Given the description of an element on the screen output the (x, y) to click on. 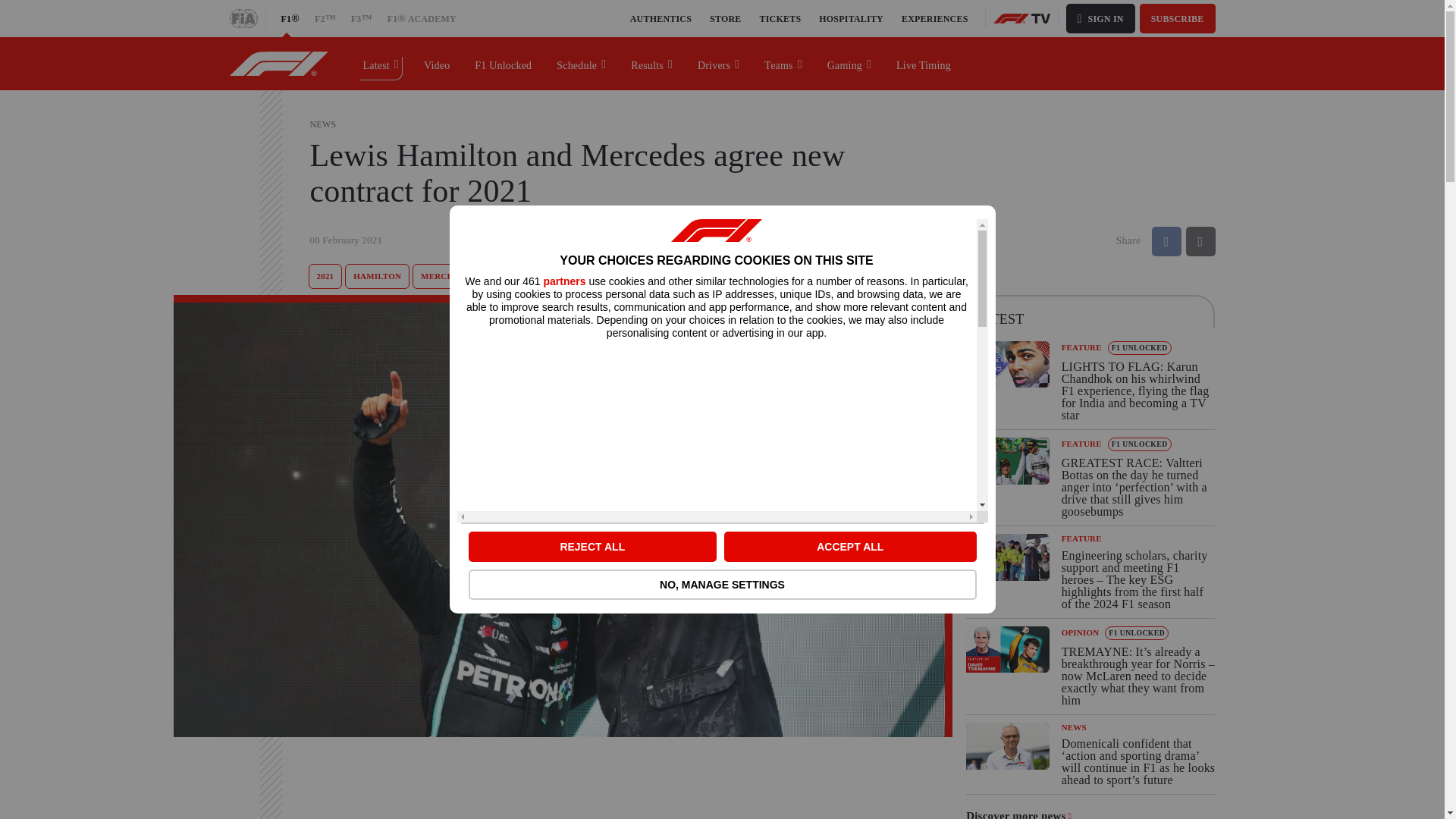
SUBSCRIBE (1177, 18)
HAMILTON (377, 276)
Live Timing (923, 63)
F1 Unlocked (503, 63)
MERCEDES (444, 276)
Results (651, 63)
HOSPITALITY (850, 18)
Video (437, 63)
SIGN IN (1100, 18)
